Given the description of an element on the screen output the (x, y) to click on. 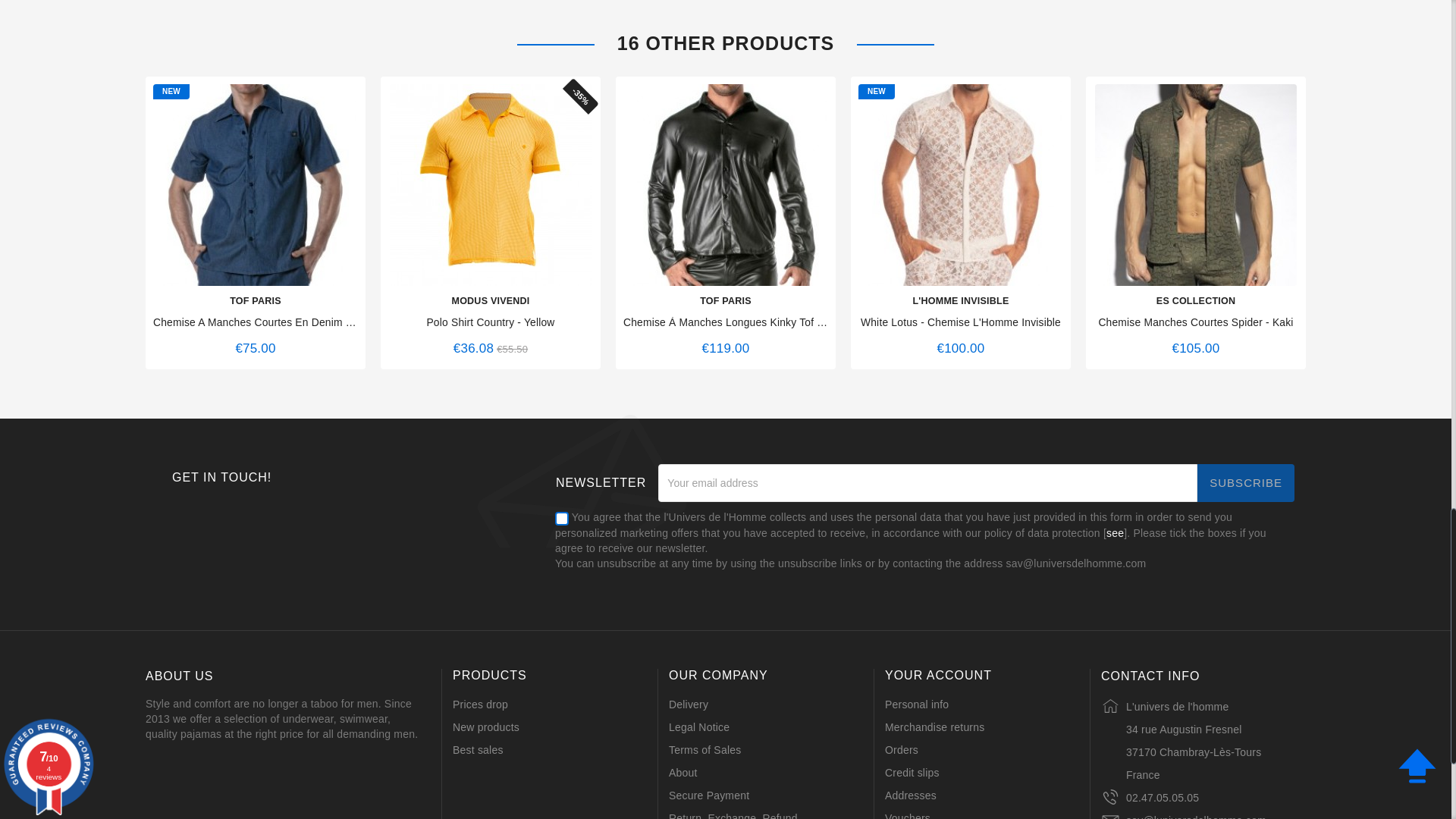
Subscribe (1245, 483)
